Given the description of an element on the screen output the (x, y) to click on. 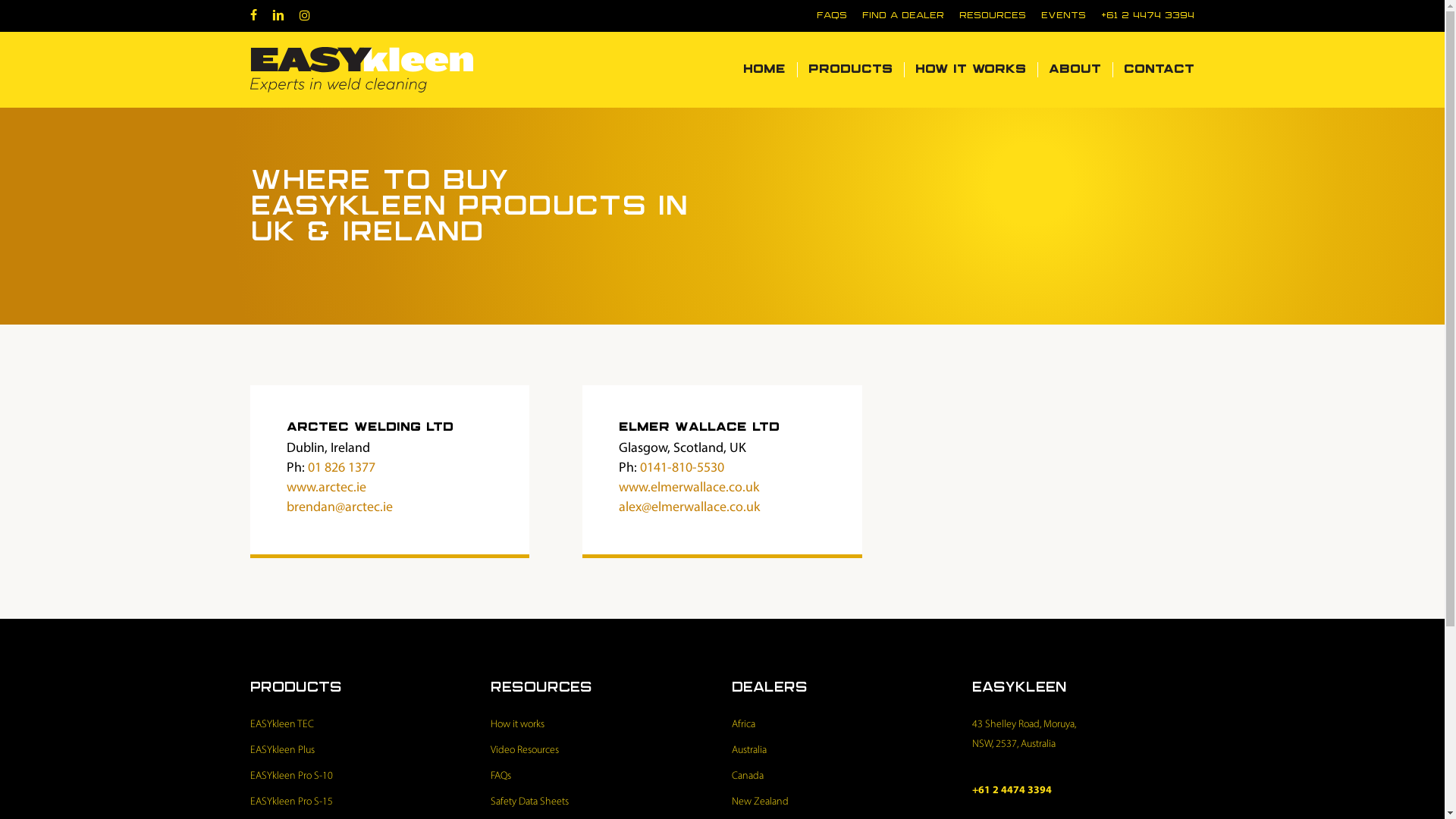
EASYkleen TEC Element type: text (361, 724)
Products Element type: text (850, 69)
linkedin Element type: text (278, 15)
About Element type: text (1074, 69)
facebook Element type: text (253, 15)
How it works Element type: text (601, 724)
alex@elmerwallace.co.uk Element type: text (688, 507)
0141-810-5530 Element type: text (682, 468)
EASYkleen Plus Element type: text (361, 750)
www.elmerwallace.co.uk Element type: text (688, 487)
brendan@arctec.ie Element type: text (339, 507)
+61 2 4474 3394 Element type: text (1011, 790)
New Zealand Element type: text (842, 802)
Home Element type: text (764, 69)
Resources Element type: text (992, 15)
Video Resources Element type: text (601, 750)
Australia Element type: text (842, 750)
Events Element type: text (1063, 15)
Find a dealer Element type: text (903, 15)
instagram Element type: text (304, 15)
43 Shelley Road, Moruya,
NSW, 2537, Australia Element type: text (1083, 734)
EASYkleen Pro S-10 Element type: text (361, 776)
www.arctec.ie Element type: text (326, 487)
FAQs Element type: text (831, 15)
Safety Data Sheets Element type: text (601, 802)
FAQs Element type: text (601, 776)
How it works Element type: text (970, 69)
+61 2 4474 3394 Element type: text (1147, 15)
Contact Element type: text (1153, 69)
01 826 1377 Element type: text (341, 468)
Canada Element type: text (842, 776)
Africa Element type: text (842, 724)
EASYkleen Pro S-15 Element type: text (361, 802)
